Given the description of an element on the screen output the (x, y) to click on. 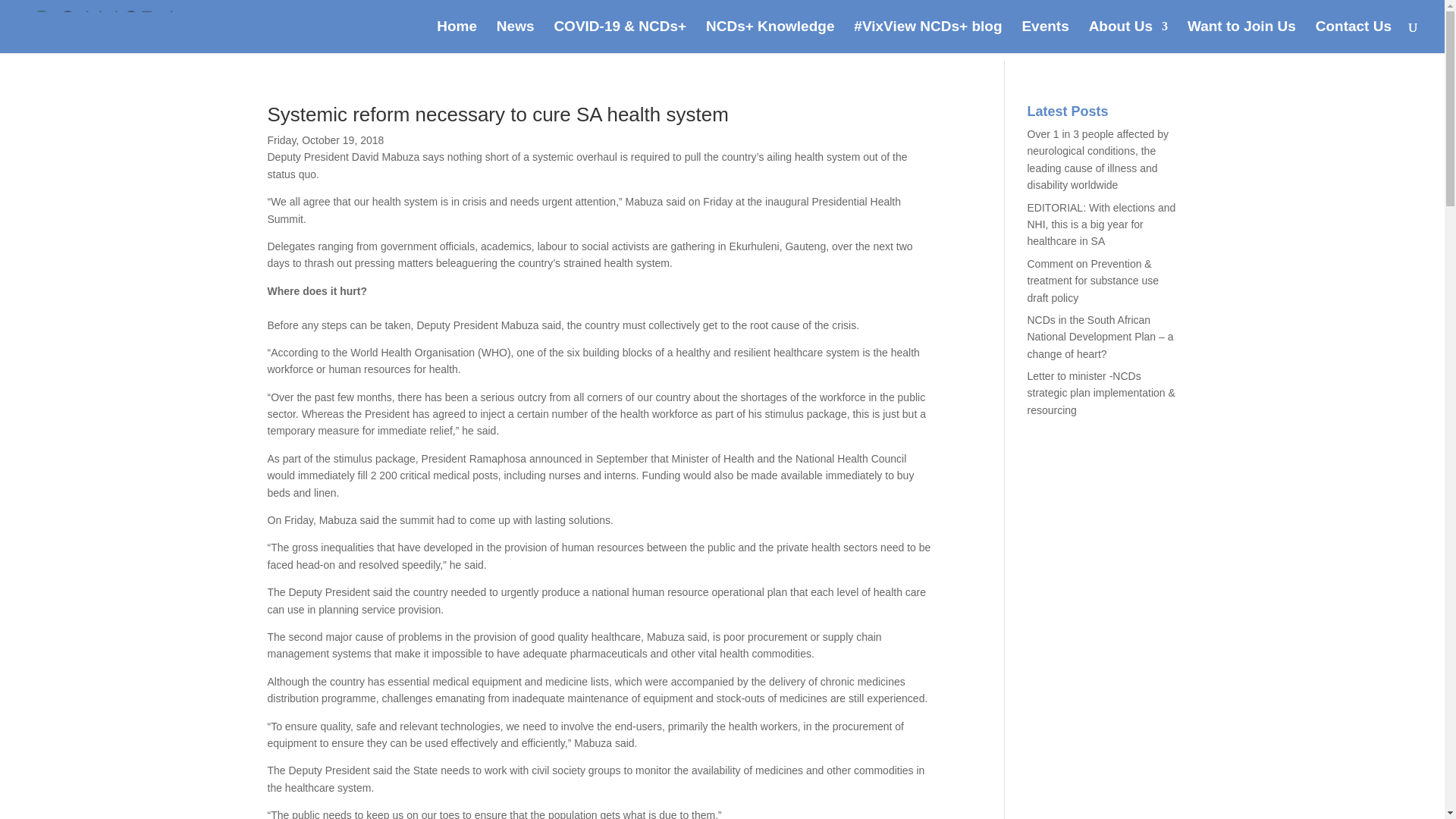
Want to Join Us (1241, 37)
News (515, 37)
About Us (1128, 37)
Home (456, 37)
Events (1045, 37)
Systemic reform necessary to cure SA health system (497, 114)
Contact Us (1353, 37)
